Given the description of an element on the screen output the (x, y) to click on. 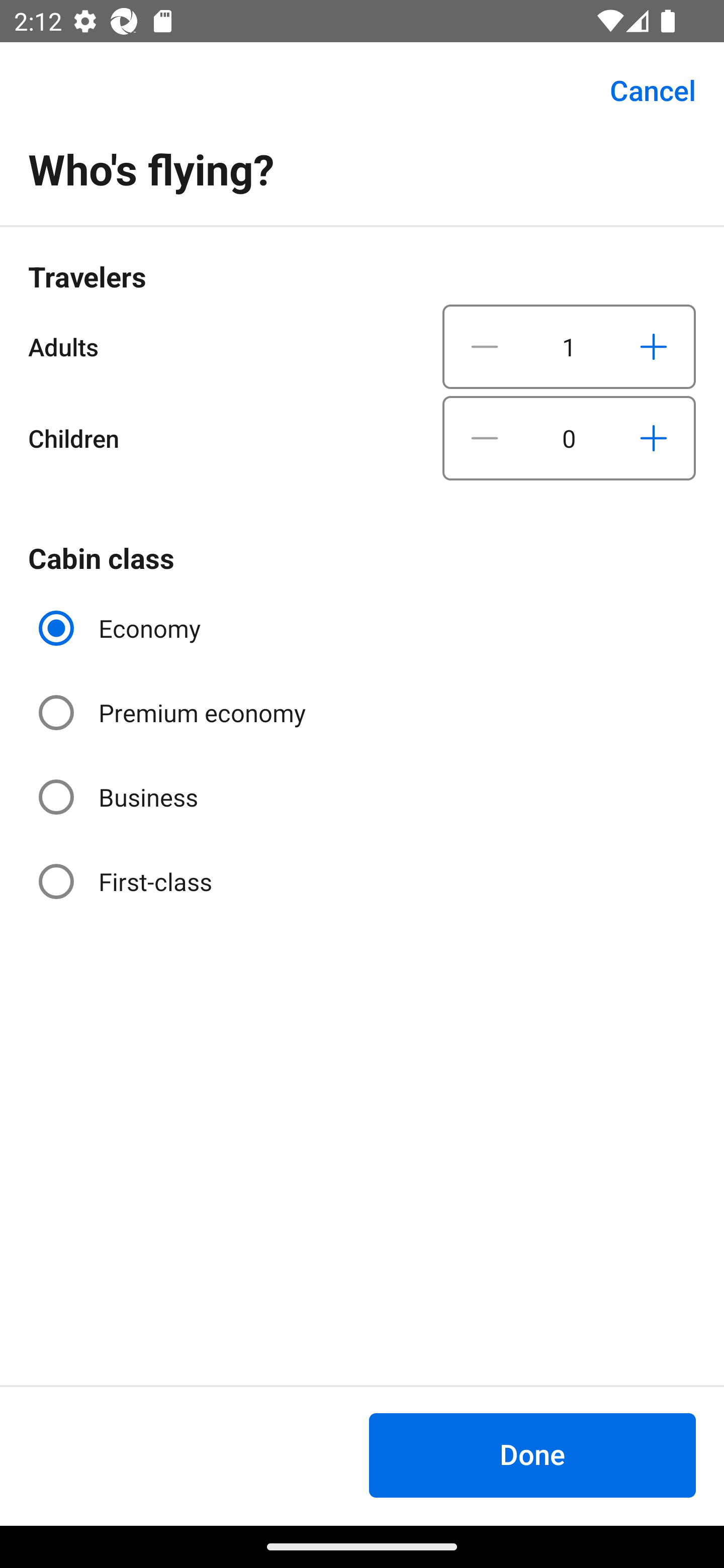
Cancel (641, 90)
Decrease (484, 346)
Increase (653, 346)
Decrease (484, 437)
Increase (653, 437)
Economy (121, 628)
Premium economy (174, 712)
Business (120, 796)
First-class (126, 880)
Done (532, 1454)
